Given the description of an element on the screen output the (x, y) to click on. 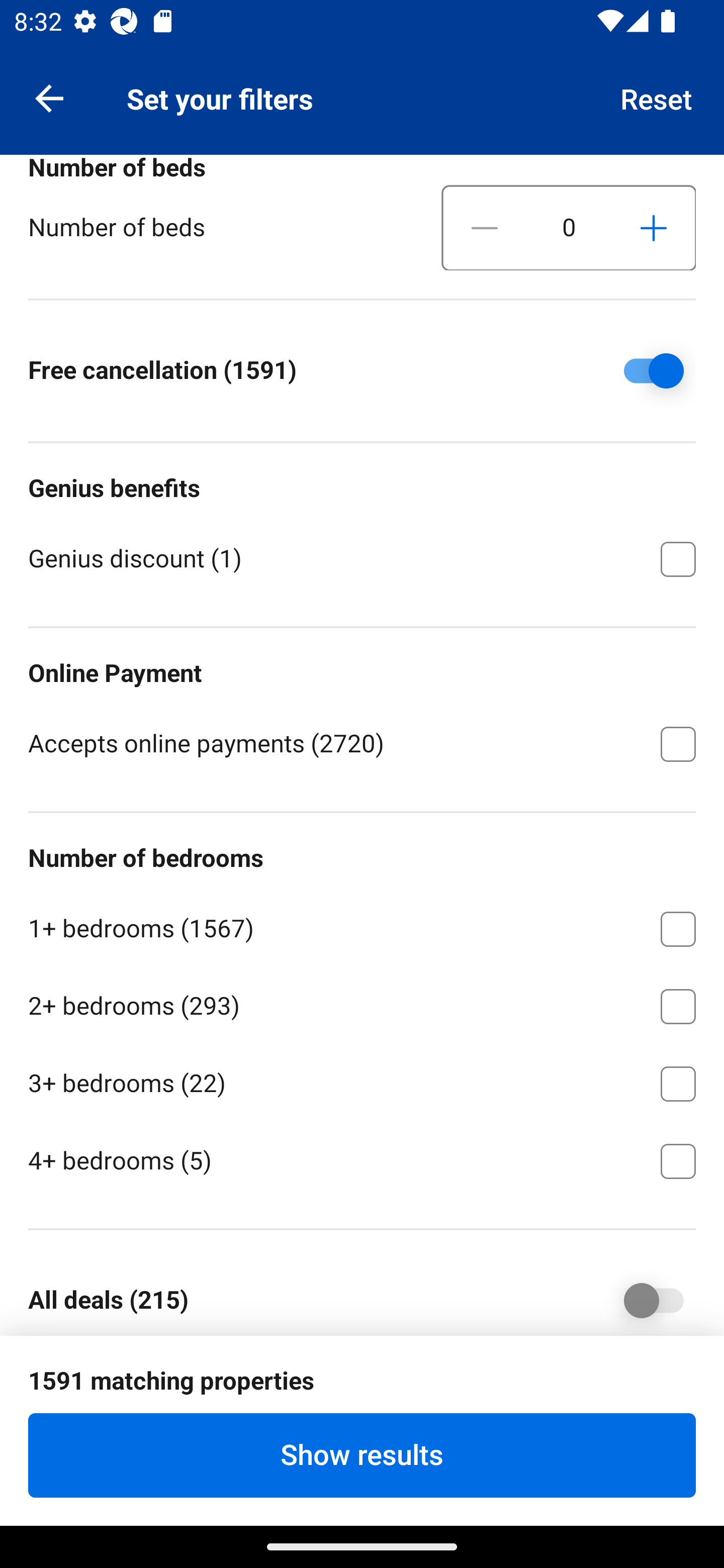
Navigate up (49, 97)
Reset (656, 97)
Decrease (484, 227)
Increase (653, 227)
Free cancellation ⁦(1591) (639, 370)
Genius discount ⁦(1) (361, 557)
Accepts online payments ⁦(2720) (361, 742)
1+ bedrooms ⁦(1567) (361, 925)
2+ bedrooms ⁦(293) (361, 1002)
3+ bedrooms ⁦(22) (361, 1080)
4+ bedrooms ⁦(5) (361, 1159)
All deals ⁦(215) (639, 1297)
Show results (361, 1454)
